Given the description of an element on the screen output the (x, y) to click on. 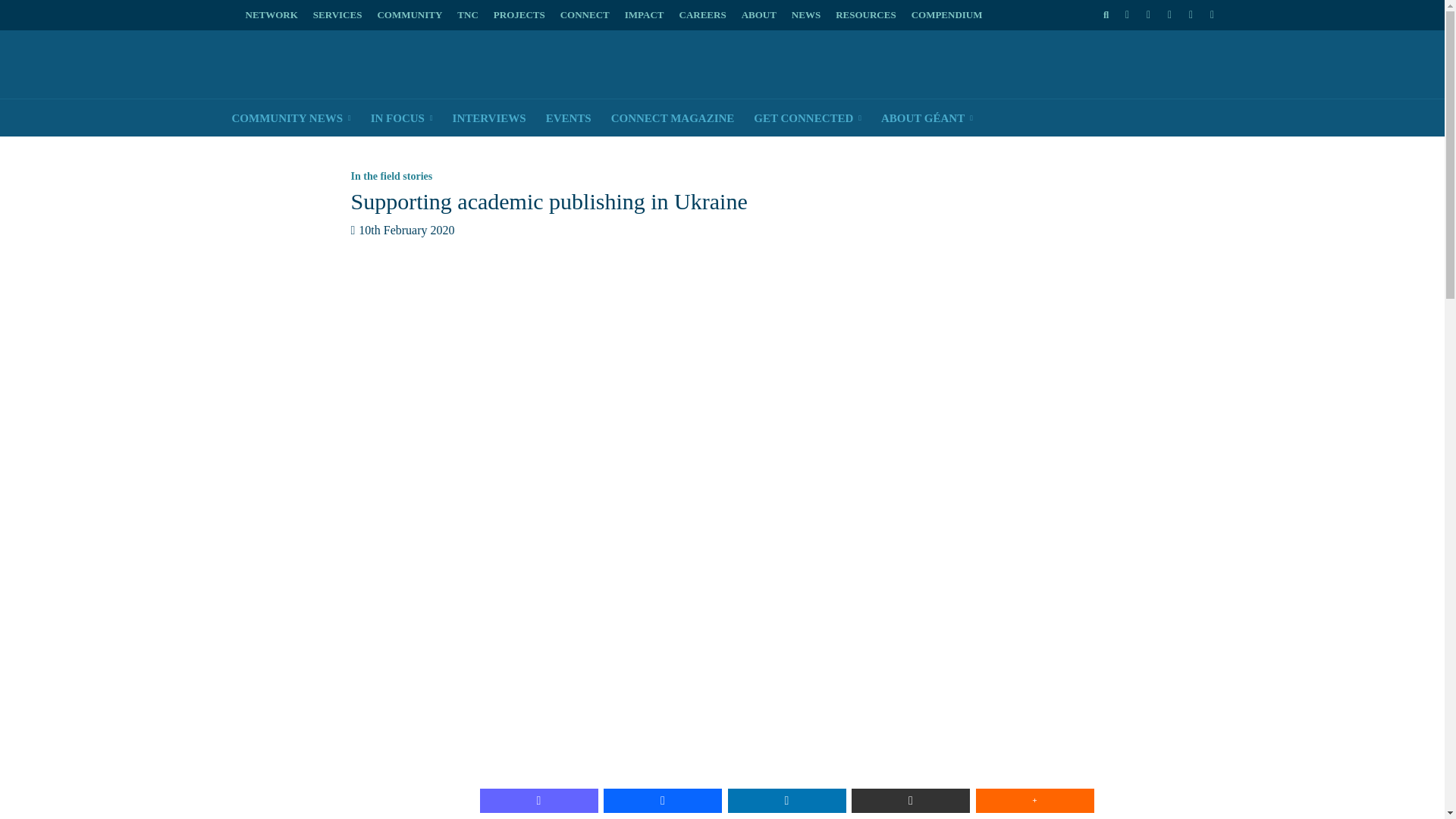
ABOUT (758, 15)
CAREERS (702, 15)
GET CONNECTED (807, 118)
IMPACT (644, 15)
TNC (466, 15)
IN FOCUS (401, 118)
RESOURCES (865, 15)
COMPENDIUM (947, 15)
PROJECTS (519, 15)
CONNECT MAGAZINE (672, 118)
